Given the description of an element on the screen output the (x, y) to click on. 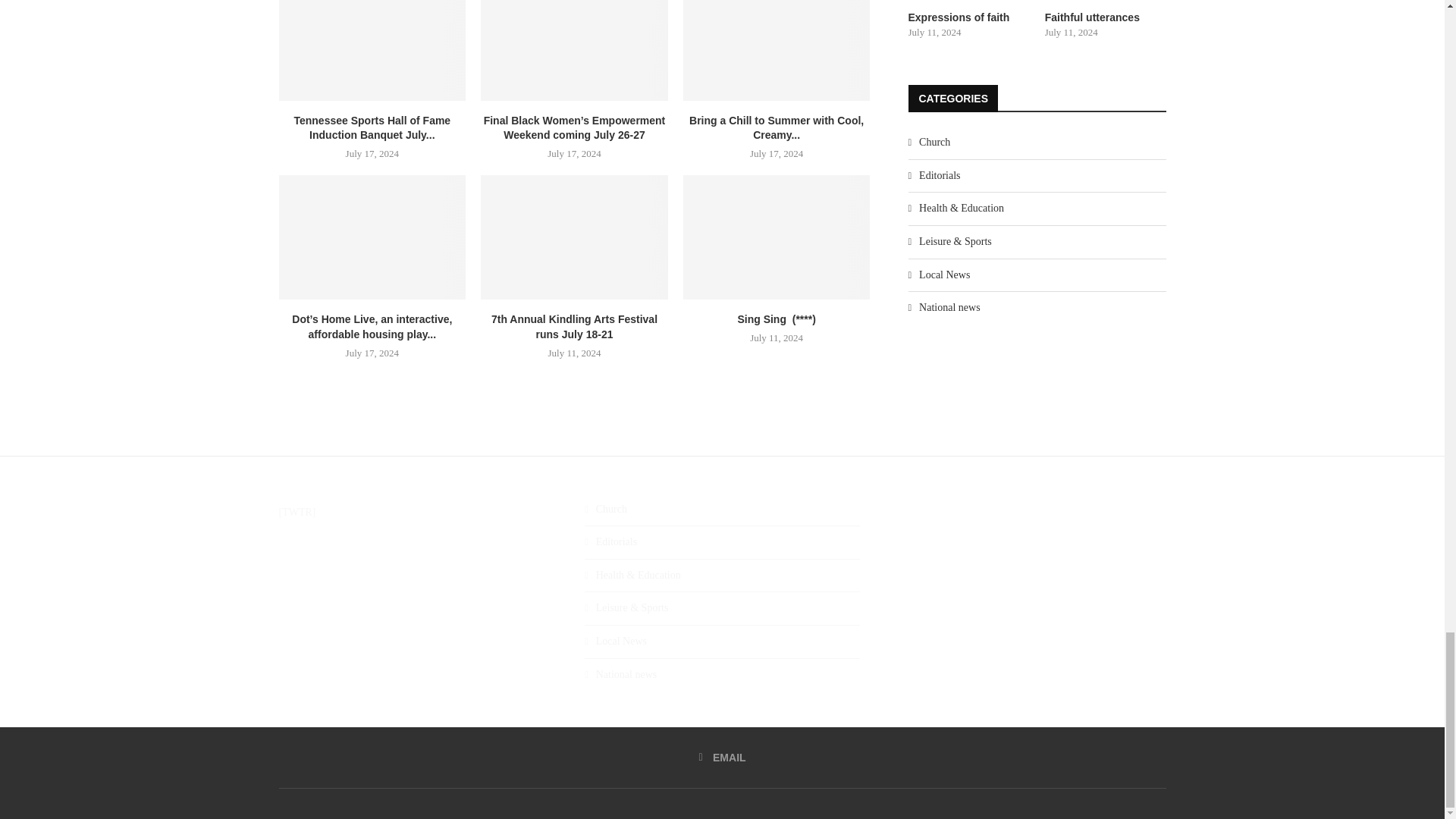
Tennessee Sports Hall of Fame Induction Banquet July 20 (372, 49)
Bring a Chill to Summer with Cool, Creamy Cheesecake (776, 49)
7th Annual Kindling Arts Festival runs July 18-21 (574, 237)
